Given the description of an element on the screen output the (x, y) to click on. 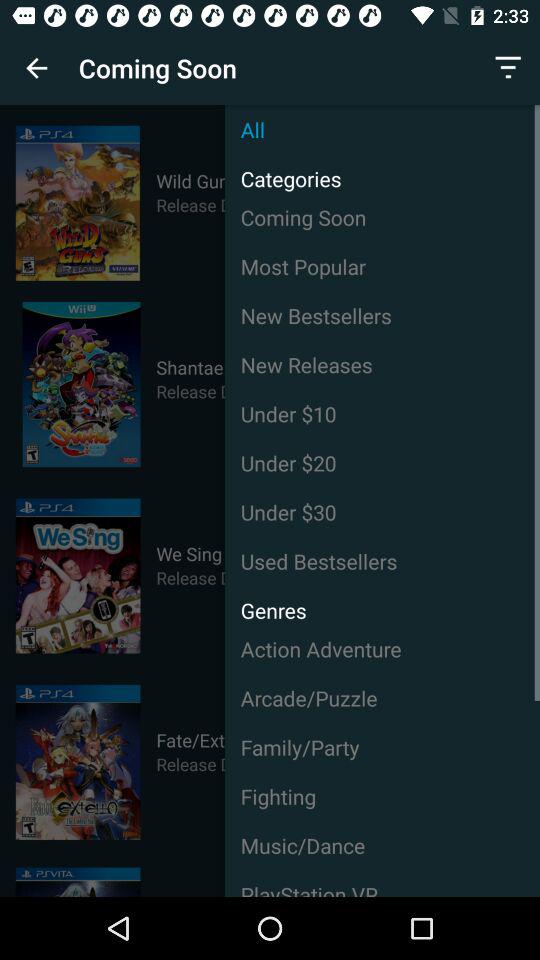
launch the item to the right of we sing item (382, 561)
